Given the description of an element on the screen output the (x, y) to click on. 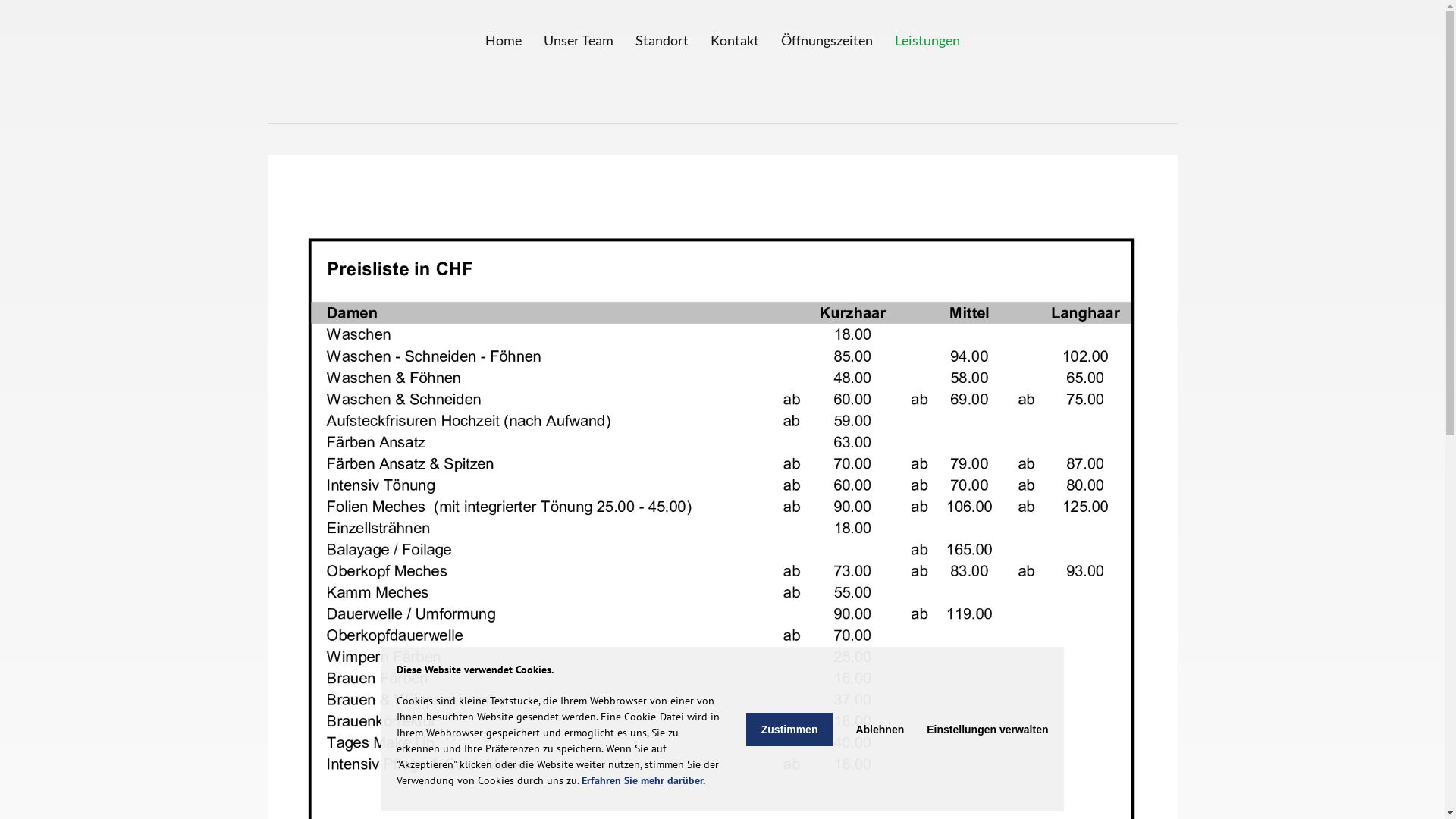
Leistungen Element type: text (927, 40)
Home Element type: text (503, 40)
Kontakt Element type: text (733, 40)
Unser Team Element type: text (577, 40)
Standort Element type: text (661, 40)
Einstellungen verwalten Element type: text (987, 729)
Zustimmen Element type: text (789, 729)
Ablehnen Element type: text (879, 729)
